Given the description of an element on the screen output the (x, y) to click on. 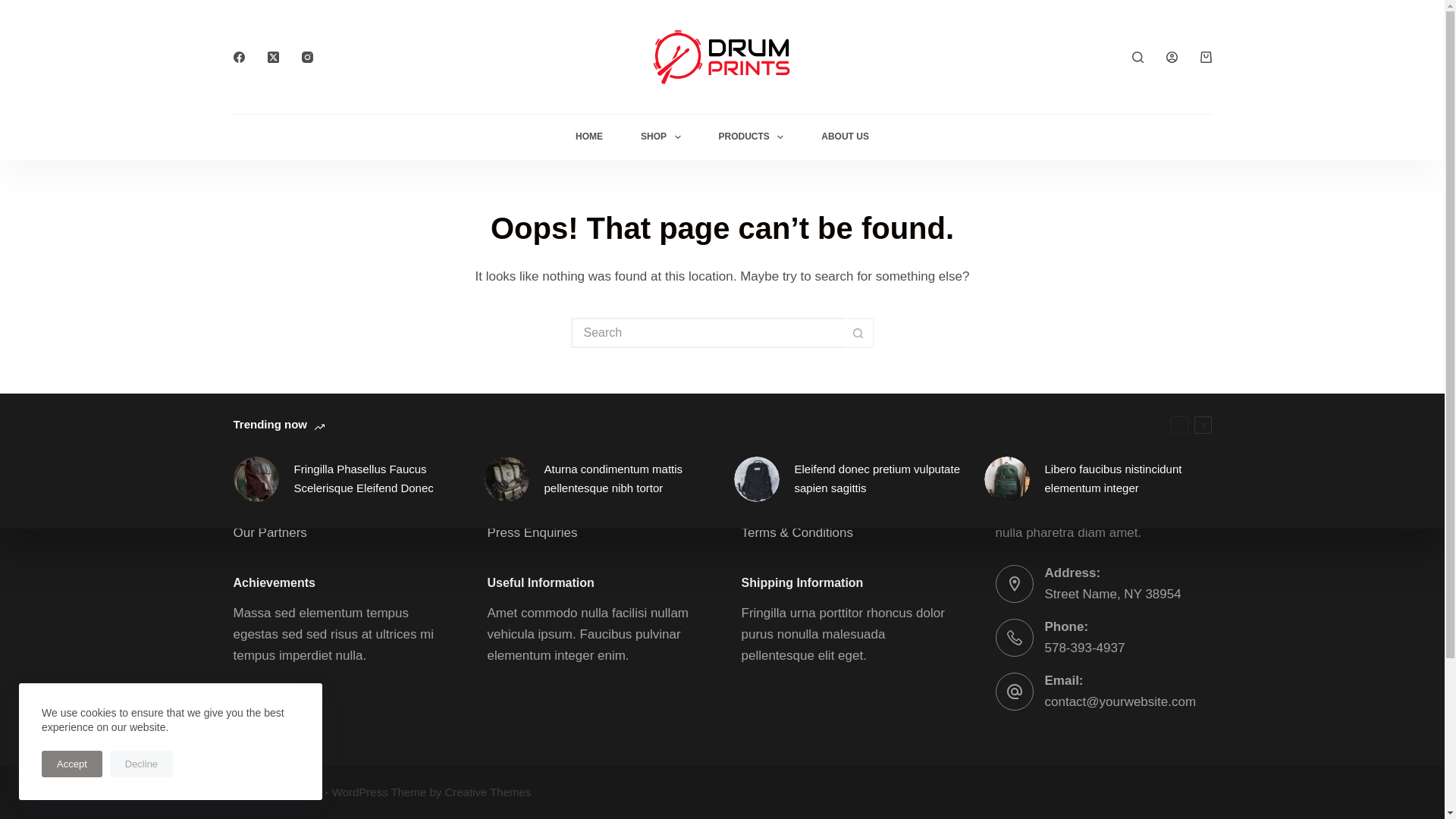
Search for... (706, 332)
HOME (588, 136)
Accept (71, 764)
andrew-neel-UcgSpU8bOYY-unsplash (506, 479)
daniel-lincoln-dp75uo9Qflo-unsplash (755, 479)
SHOP (659, 136)
Shopping cart (1205, 57)
Skip to content (15, 7)
haupes-co-6hpJZcqWt4I-unsplash (1006, 479)
Decline (141, 764)
